Given the description of an element on the screen output the (x, y) to click on. 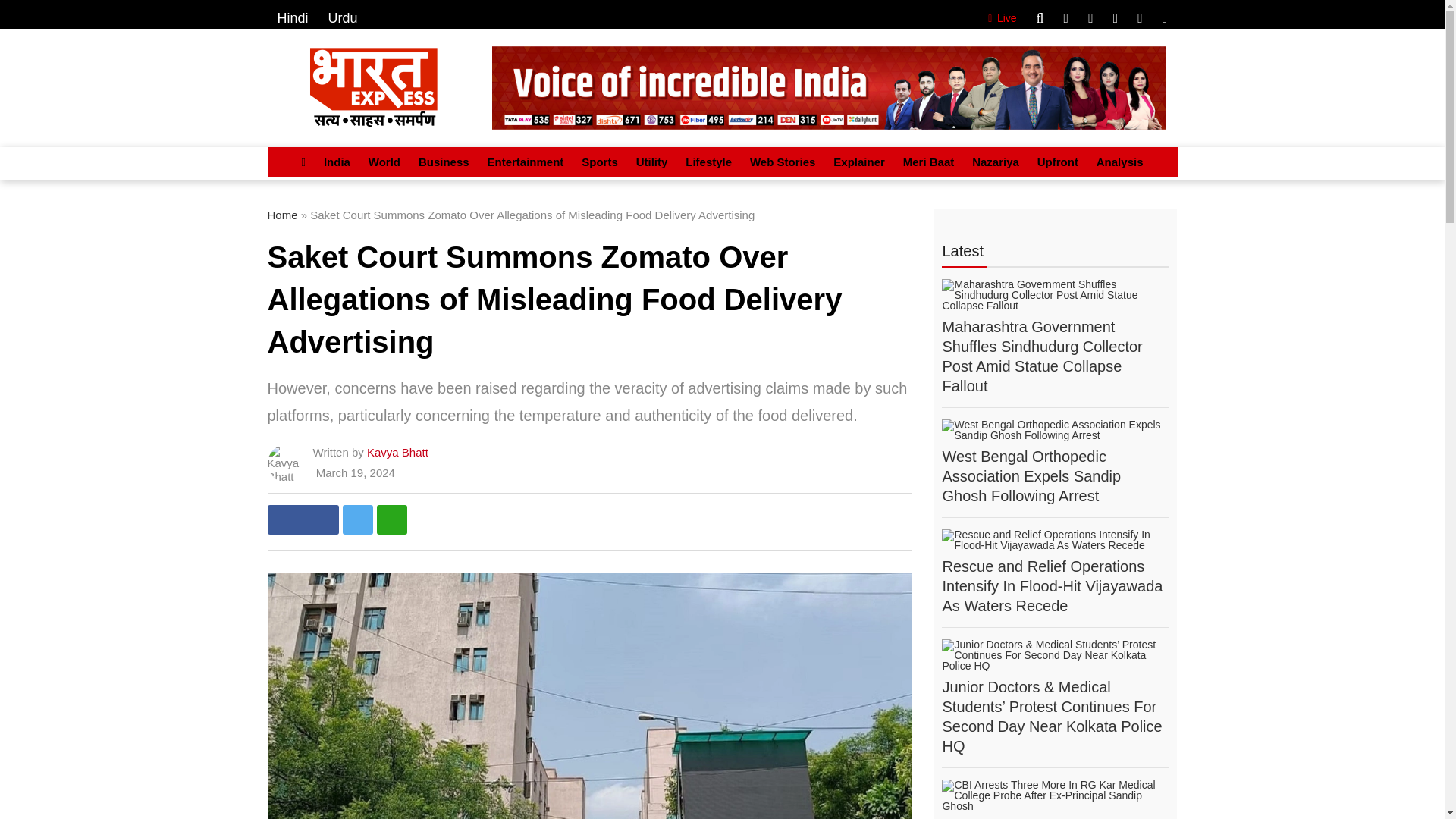
Entertainment (524, 162)
Urdu (342, 17)
Web Stories (782, 162)
Sports (599, 162)
Meri Baat (928, 162)
Nazariya (994, 162)
Explainer (858, 162)
Live (999, 18)
